Given the description of an element on the screen output the (x, y) to click on. 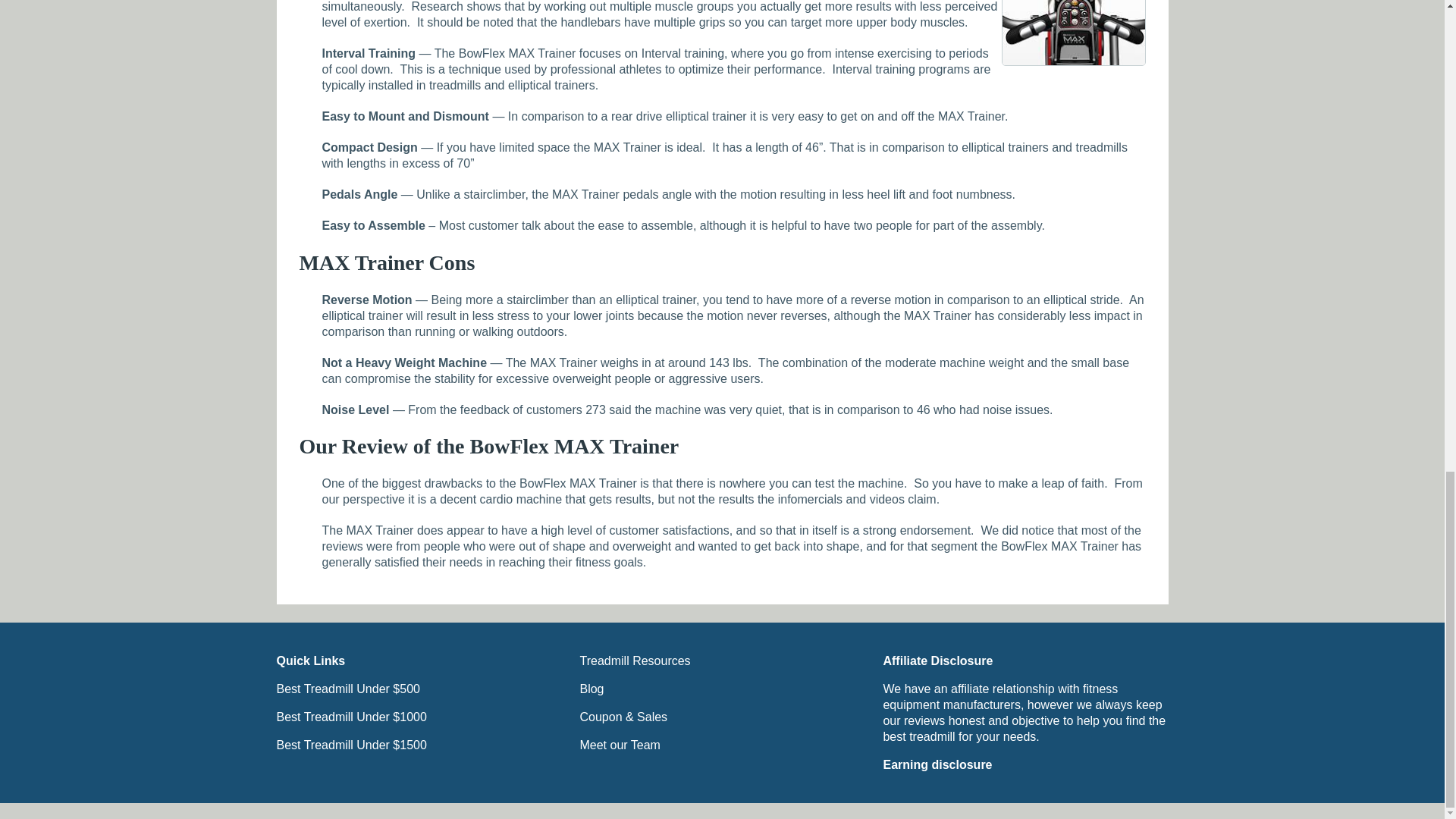
Blog (591, 688)
Meet our Team (619, 744)
Earning disclosure (936, 764)
Treadmill Resources (634, 660)
